Given the description of an element on the screen output the (x, y) to click on. 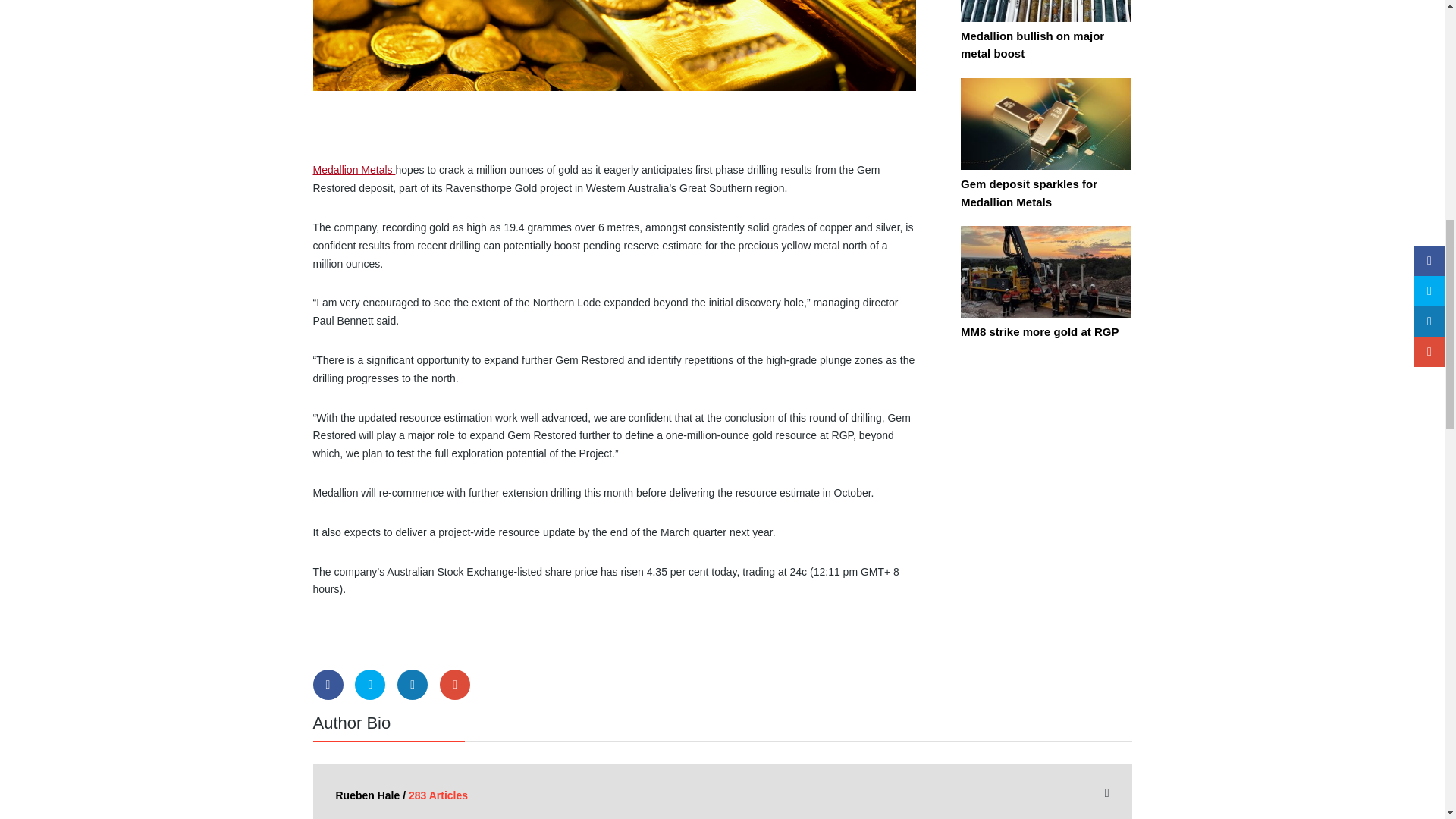
MM8 strike more gold at RGP (1045, 282)
Gold bars and coins (614, 45)
Gem deposit sparkles for Medallion Metals (1045, 133)
